Given the description of an element on the screen output the (x, y) to click on. 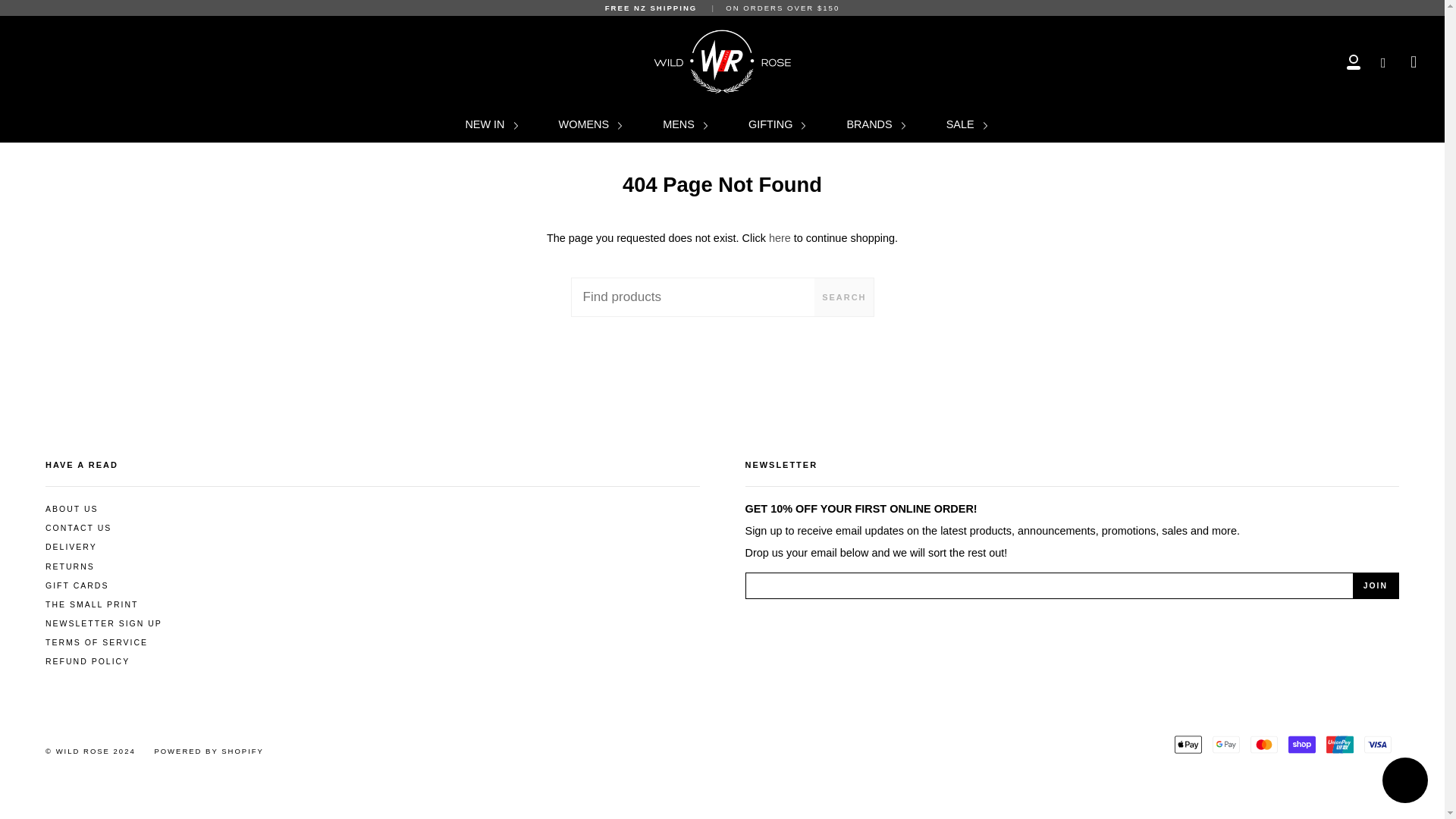
NEW IN (491, 123)
Shop Pay (1302, 744)
Join (1374, 585)
Visa (1377, 744)
Google Pay (1226, 744)
Union Pay (1340, 744)
Mastercard (1264, 744)
WOMENS (590, 123)
Apple Pay (1188, 744)
